Given the description of an element on the screen output the (x, y) to click on. 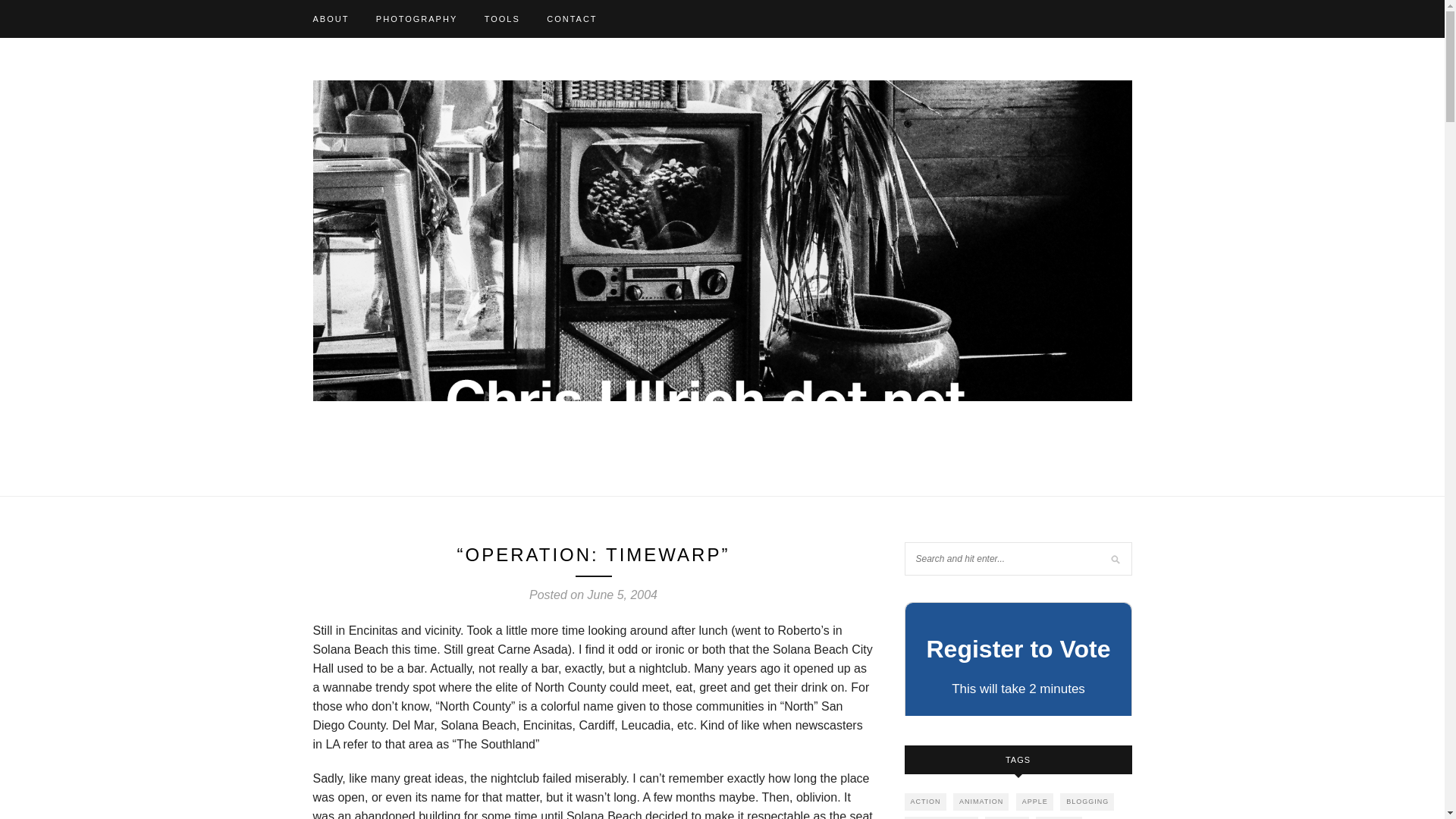
BLOGGING (1086, 801)
ANIMATION (981, 801)
TOOLS (501, 18)
APPLE (1034, 801)
PHOTOGRAPHY (416, 18)
COFFEE (1007, 817)
ACTION (924, 801)
ABOUT (331, 18)
COMEDY (1058, 817)
CONTACT (571, 18)
